Given the description of an element on the screen output the (x, y) to click on. 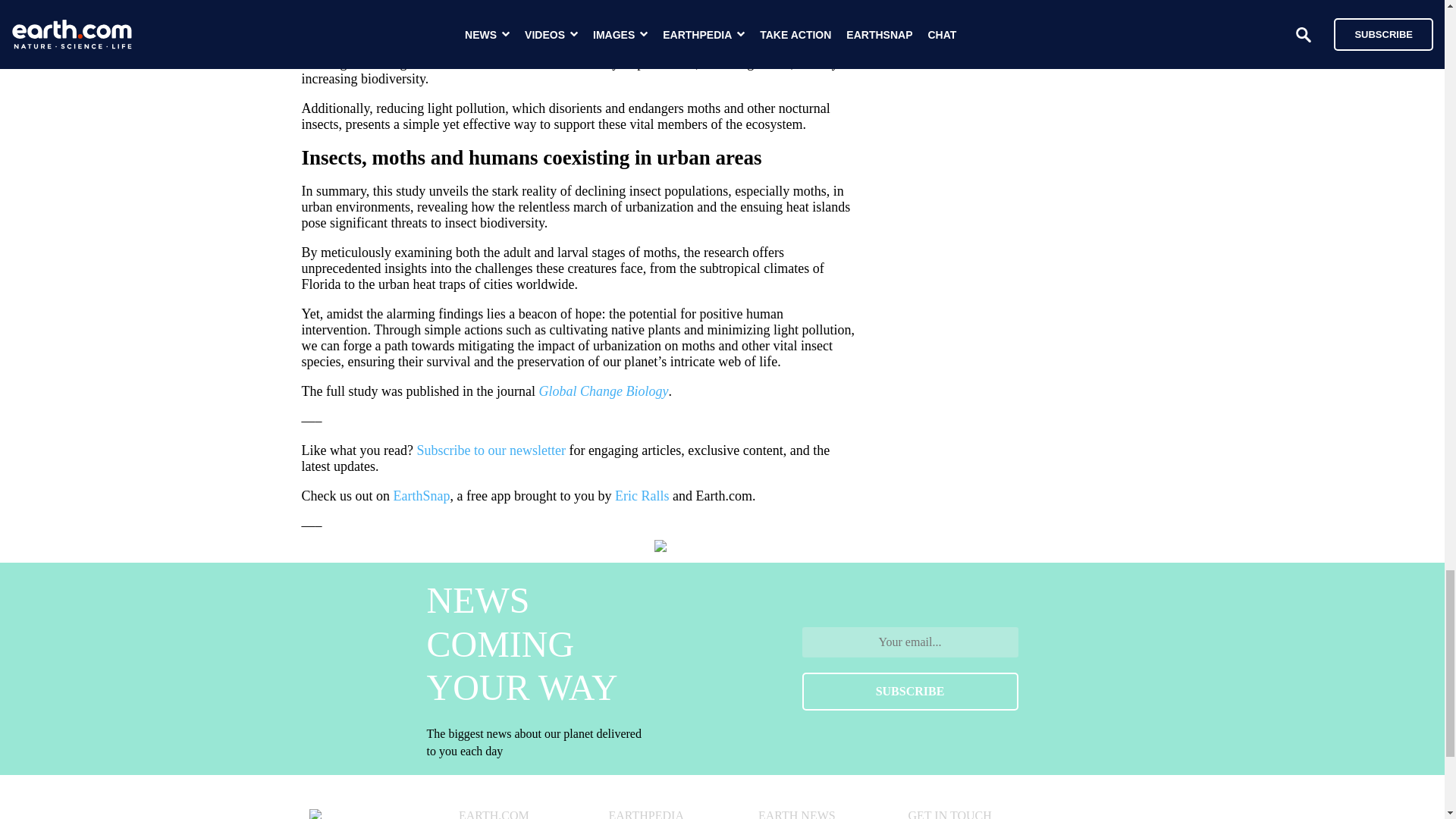
Eric Ralls (641, 495)
EarthSnap (421, 495)
moth populations (438, 32)
Subscribe to our newsletter (490, 450)
Global Change Biology (603, 391)
